Given the description of an element on the screen output the (x, y) to click on. 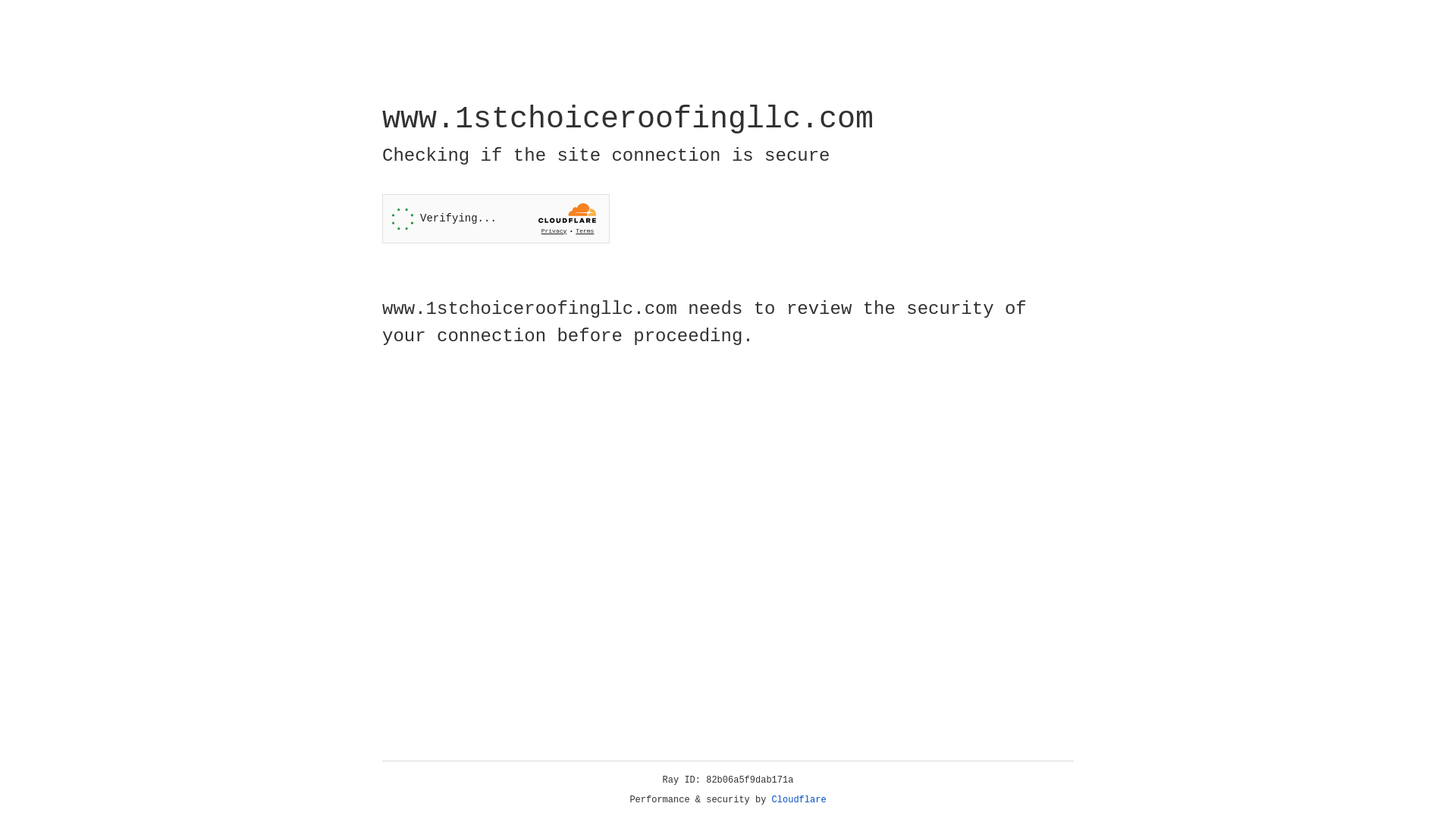
Widget containing a Cloudflare security challenge Element type: hover (495, 218)
Cloudflare Element type: text (798, 799)
